Given the description of an element on the screen output the (x, y) to click on. 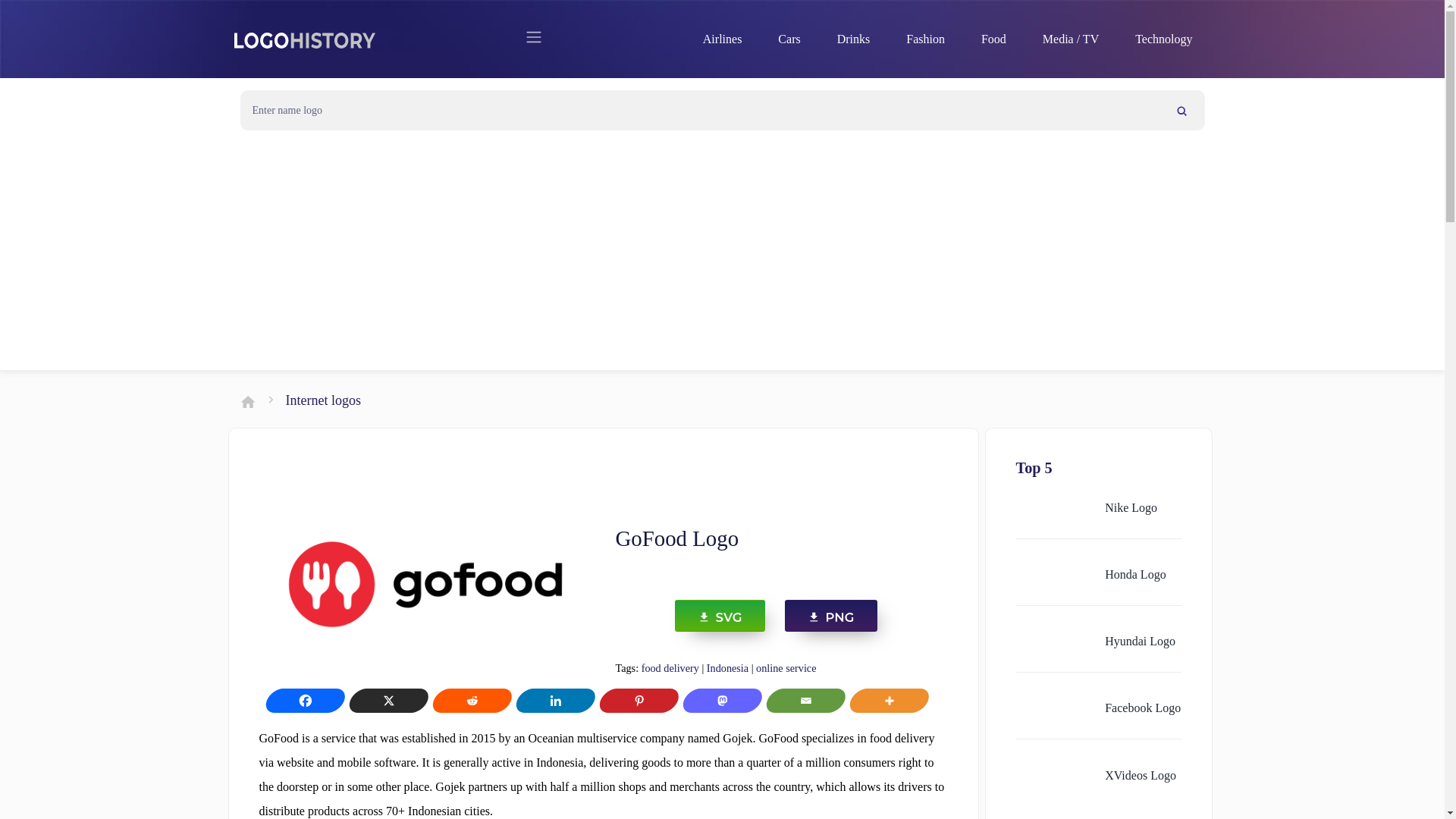
Cars (788, 39)
download PNG (831, 615)
Linkedin (550, 700)
Drinks (853, 39)
X (384, 700)
Mastodon (718, 700)
Facebook (300, 700)
More (884, 700)
Airlines (722, 39)
Email (801, 700)
Food (993, 39)
Pinterest (633, 700)
Fashion (924, 39)
Reddit (467, 700)
